Given the description of an element on the screen output the (x, y) to click on. 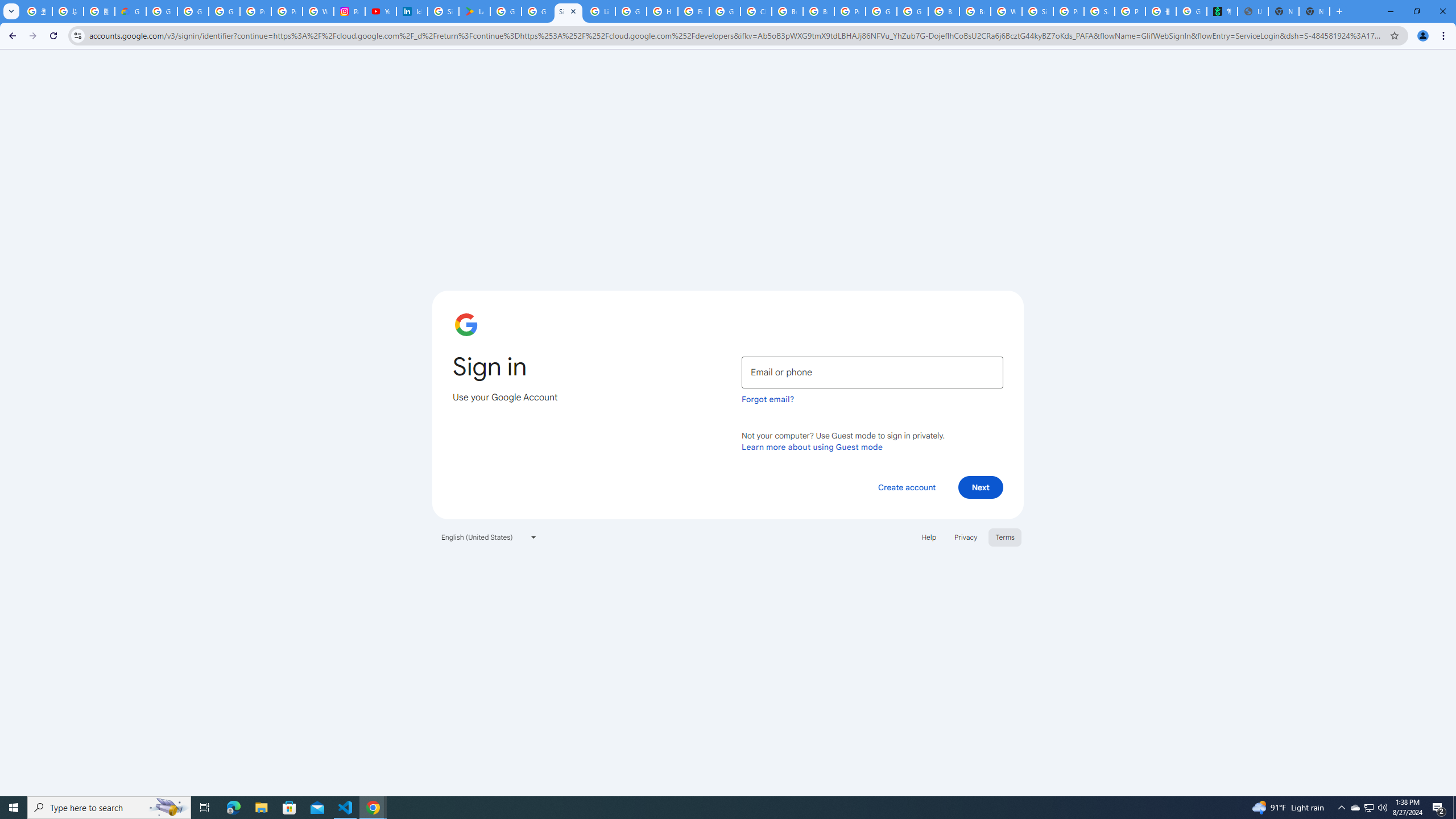
Google Cloud Platform (881, 11)
New Tab (1314, 11)
Sign in - Google Accounts (443, 11)
Google Workspace - Specific Terms (536, 11)
Sign in - Google Accounts (568, 11)
Sign in - Google Accounts (1037, 11)
